Given the description of an element on the screen output the (x, y) to click on. 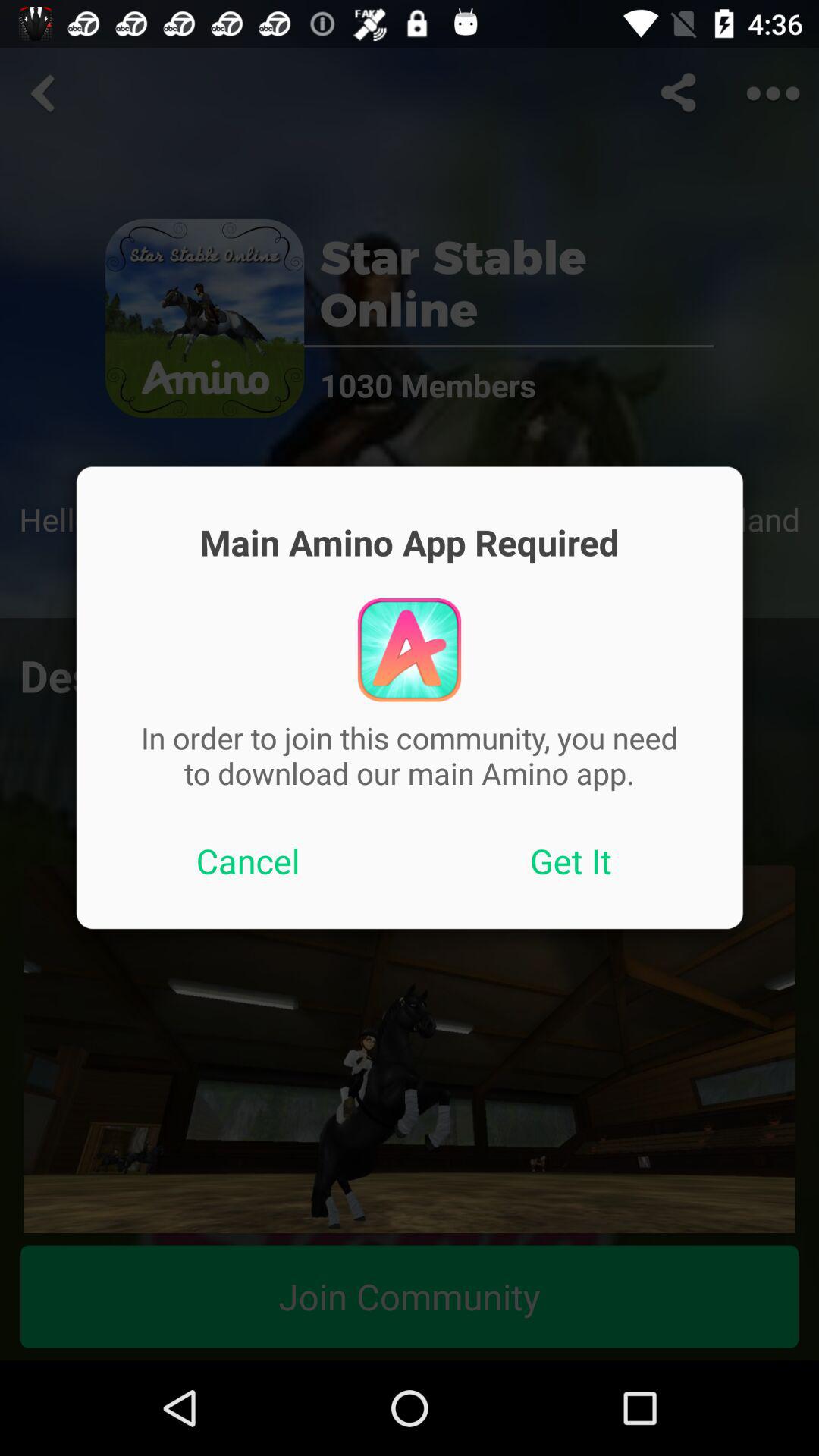
press the app below the in order to item (570, 860)
